Given the description of an element on the screen output the (x, y) to click on. 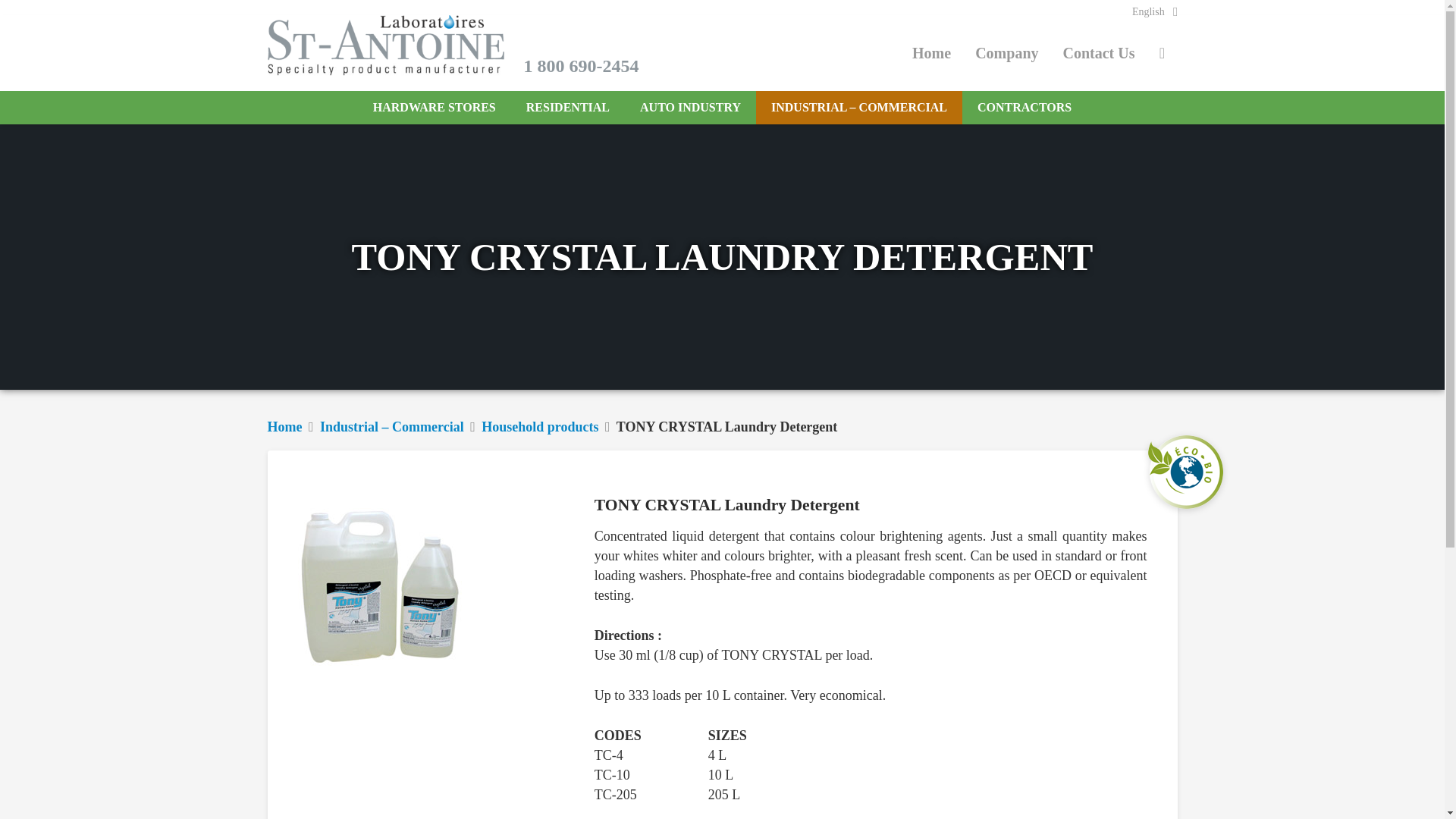
English (1154, 11)
Home (283, 426)
Facebook (1162, 52)
Home (930, 53)
CONTRACTORS (1024, 107)
AUTO INDUSTRY (689, 107)
Household products (539, 426)
Contact Us (1099, 53)
HARDWARE STORES (434, 107)
Company (1005, 53)
